Given the description of an element on the screen output the (x, y) to click on. 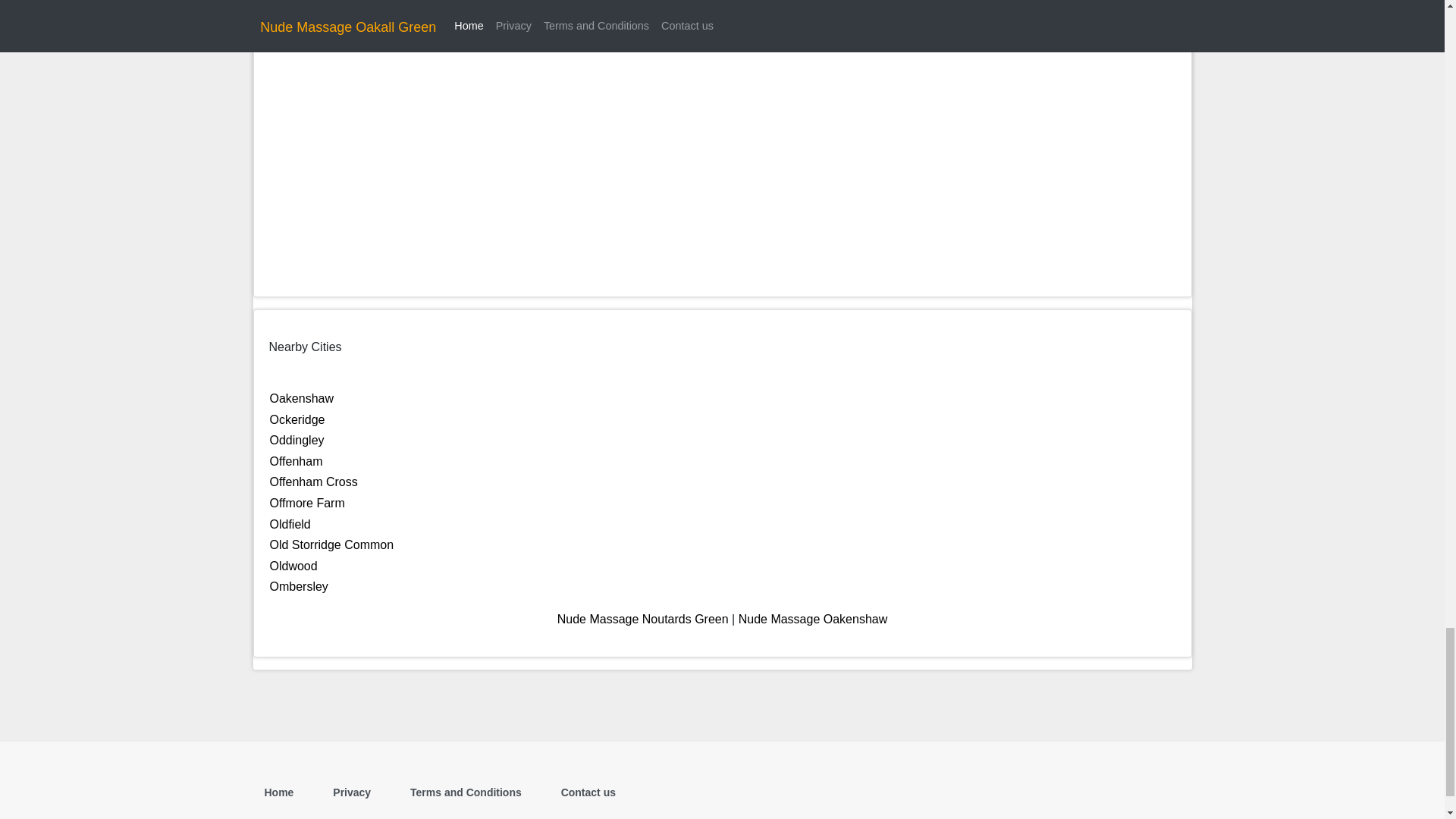
Oakenshaw (301, 398)
Old Storridge Common (331, 544)
Oldwood (293, 565)
Ockeridge (296, 419)
Nude Massage Noutards Green (643, 618)
Ombersley (299, 585)
Offmore Farm (307, 502)
Nude Massage Oakenshaw (813, 618)
Offenham Cross (313, 481)
Oddingley (296, 440)
Offenham (296, 461)
Oldfield (290, 523)
